Given the description of an element on the screen output the (x, y) to click on. 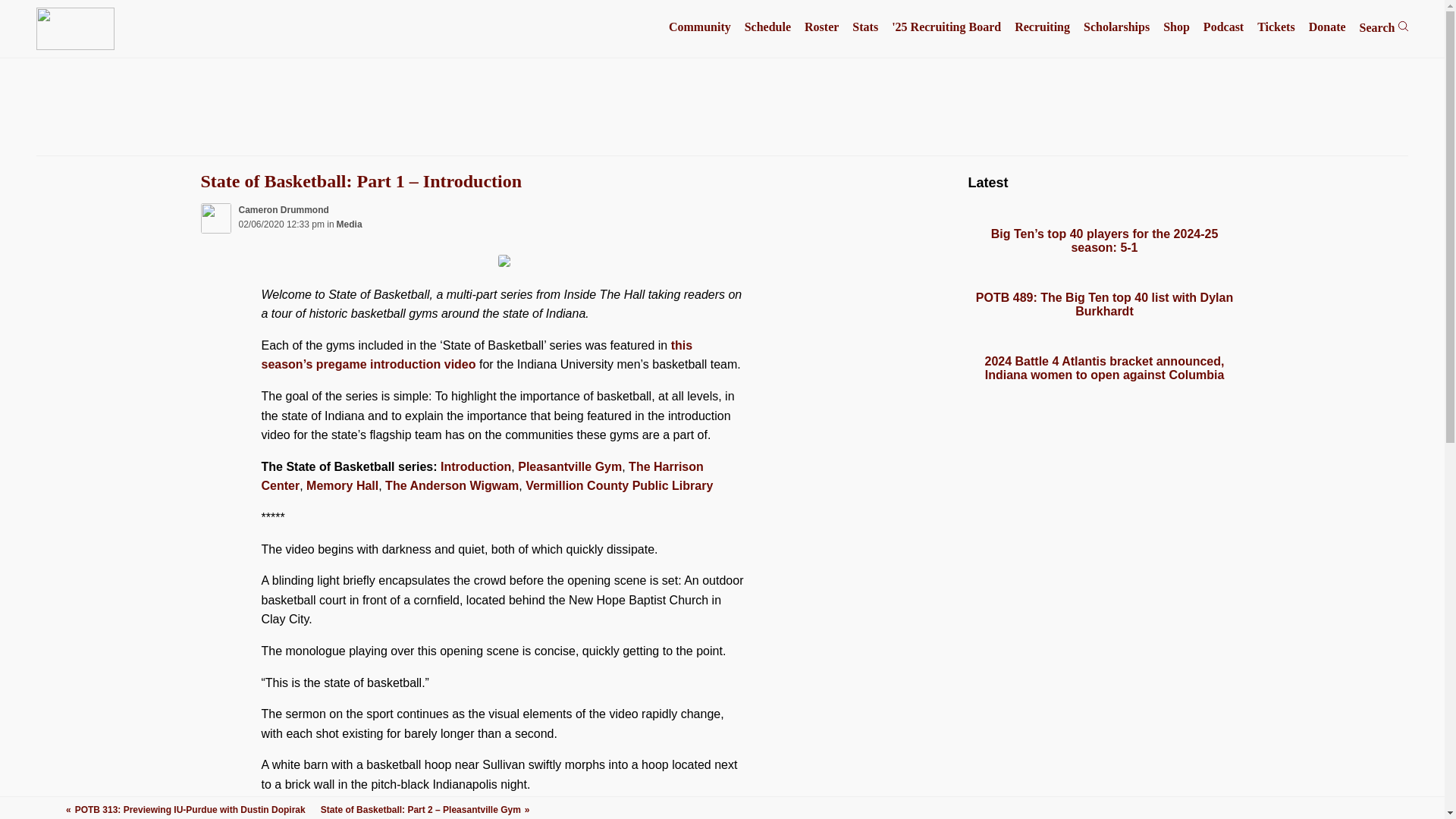
Shop (1176, 26)
Community (699, 26)
search (1402, 25)
Donate (1326, 26)
Stats (864, 26)
Tickets (1275, 26)
Scholarships (1116, 26)
Cameron Drummond (283, 209)
Pleasantville Gym (569, 466)
Recruiting (1042, 26)
